Given the description of an element on the screen output the (x, y) to click on. 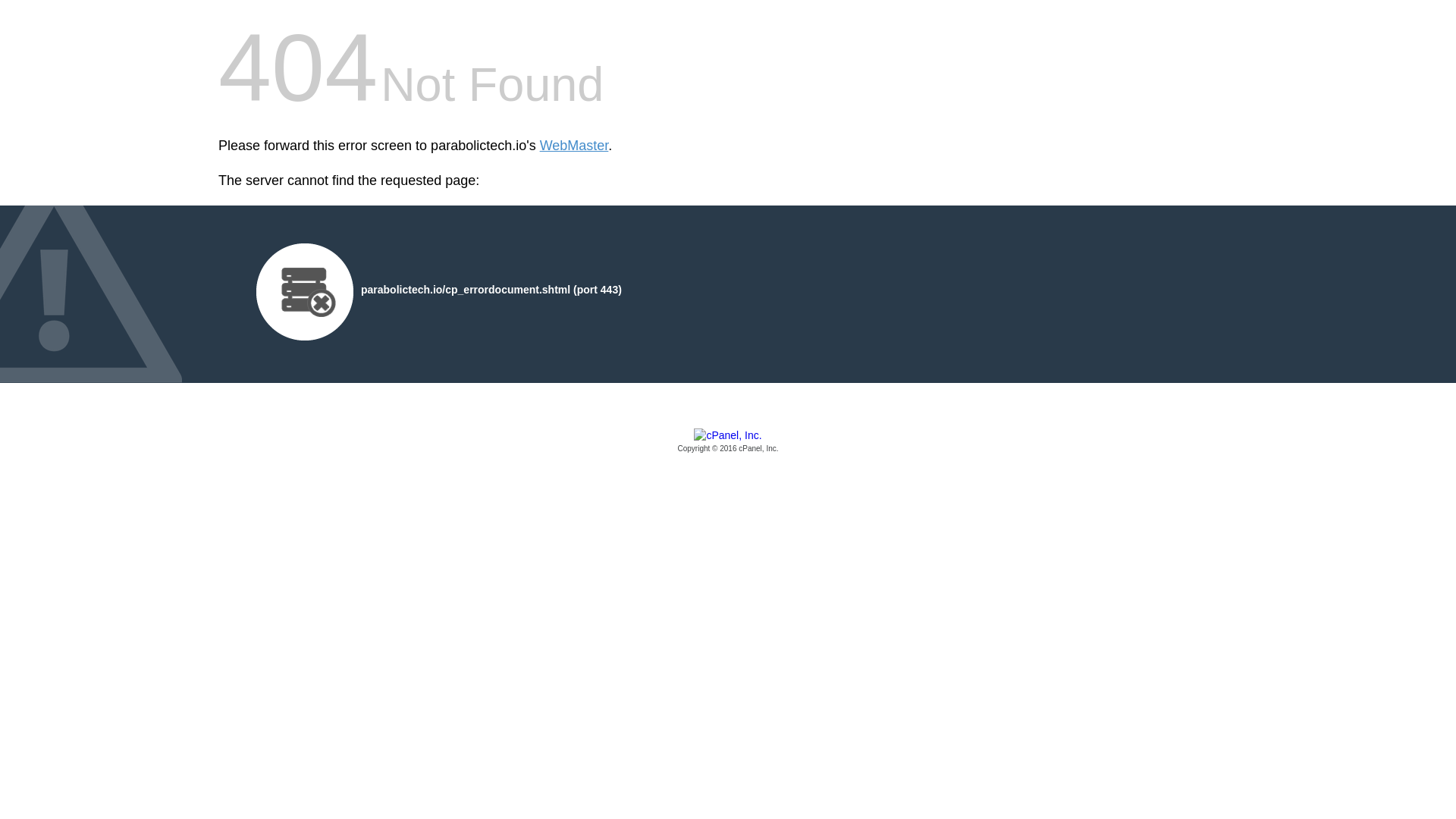
cPanel, Inc. (727, 441)
WebMaster (574, 145)
